Given the description of an element on the screen output the (x, y) to click on. 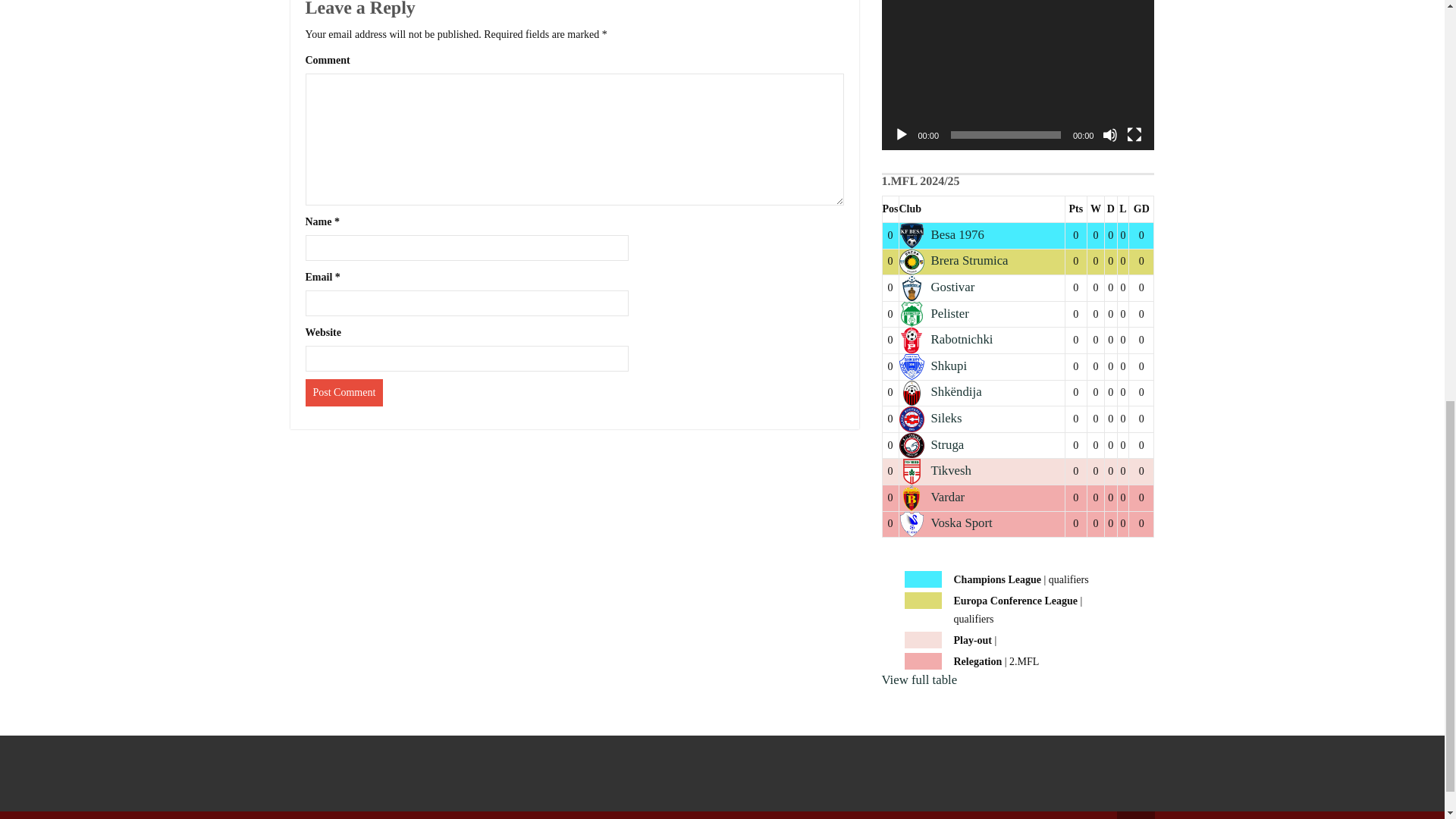
Mute (1110, 134)
Play (900, 134)
Post Comment (343, 392)
Fullscreen (1133, 134)
